Given the description of an element on the screen output the (x, y) to click on. 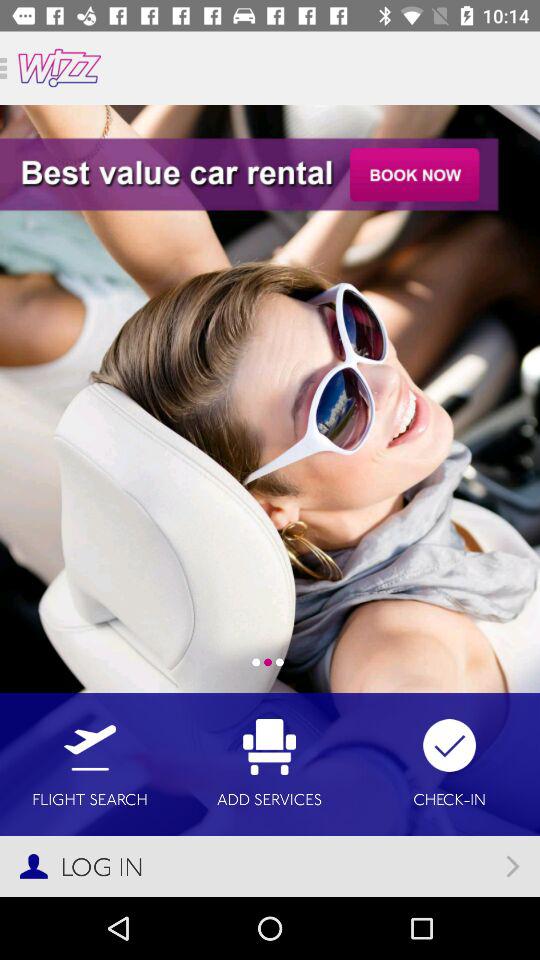
scroll until add services item (269, 764)
